Given the description of an element on the screen output the (x, y) to click on. 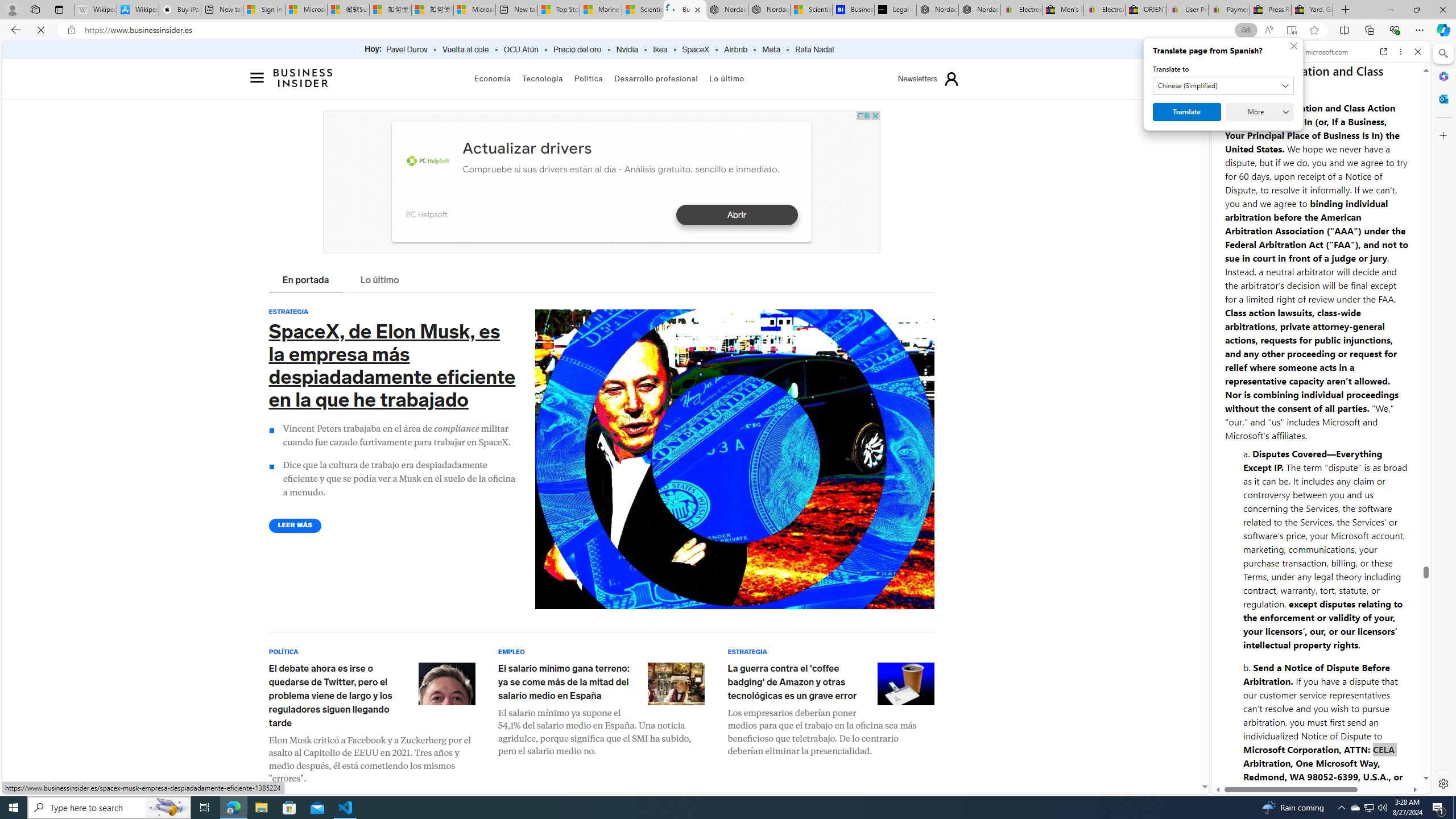
Actualizar drivers (526, 148)
